Given the description of an element on the screen output the (x, y) to click on. 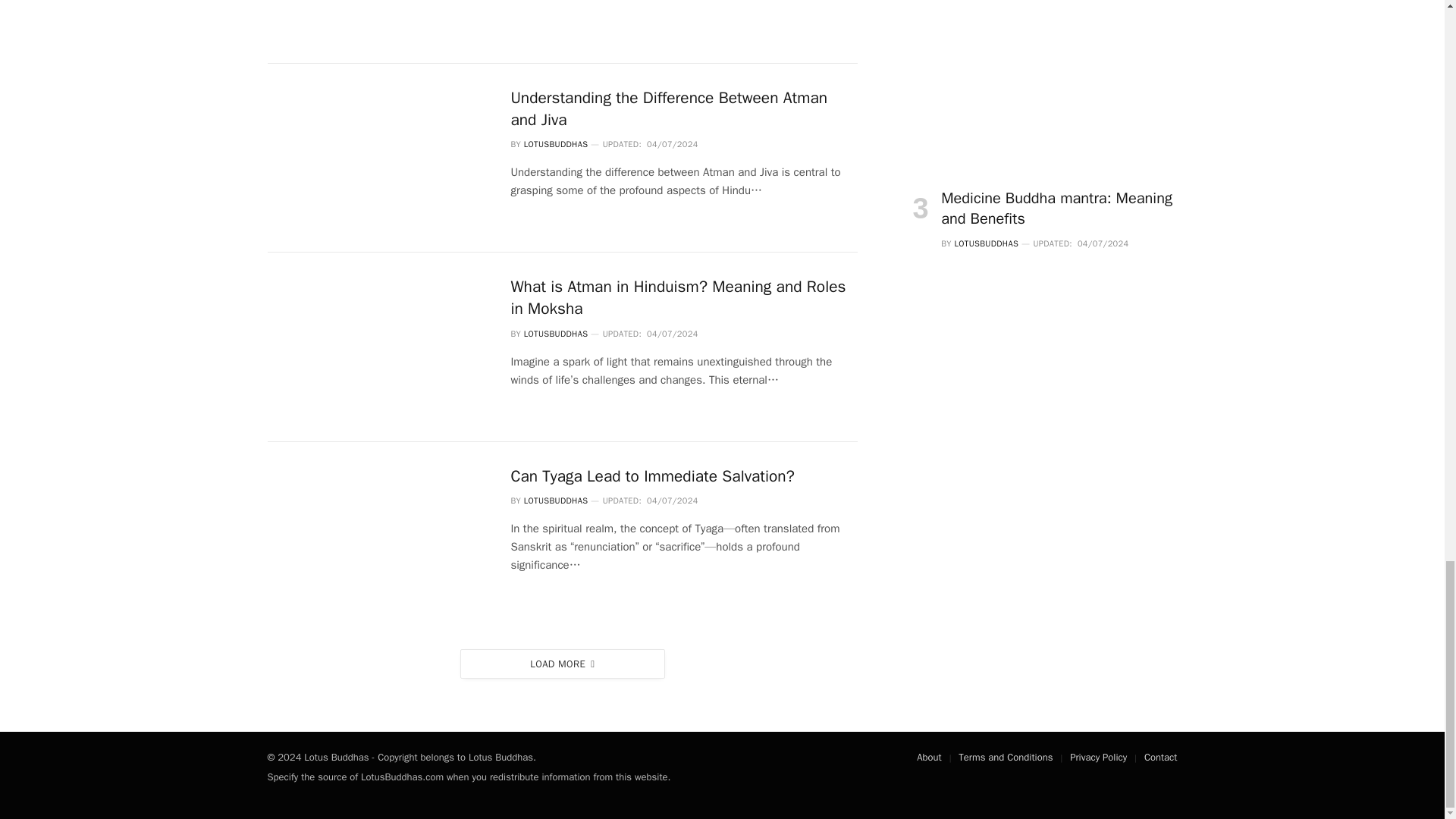
What is Atman in Hinduism? Meaning and Roles in Moksha (684, 297)
The Difference Between Atman and Anatman (379, 22)
Can Tyaga Lead to Immediate Salvation? (684, 476)
Understanding the Difference Between Atman and Jiva (684, 108)
LOTUSBUDDHAS (556, 143)
LOTUSBUDDHAS (556, 333)
